Given the description of an element on the screen output the (x, y) to click on. 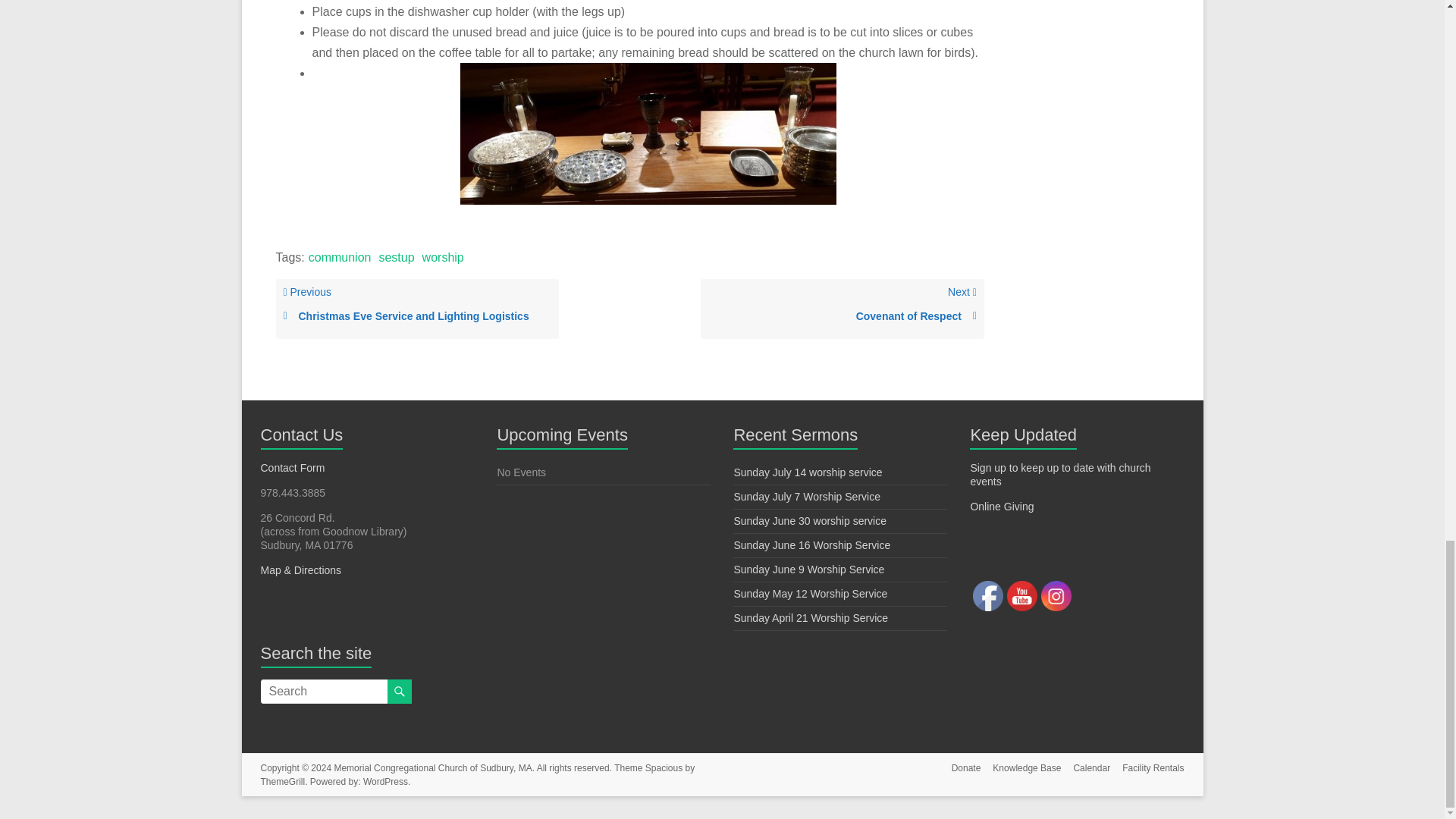
Covenant of Respect (841, 316)
Instagram (1056, 595)
YouTube (1021, 595)
Spacious (663, 767)
Memorial Congregational Church of Sudbury, MA (432, 767)
Facebook (987, 595)
Christmas Eve Service and Lighting Logistics (417, 316)
WordPress (384, 781)
